Given the description of an element on the screen output the (x, y) to click on. 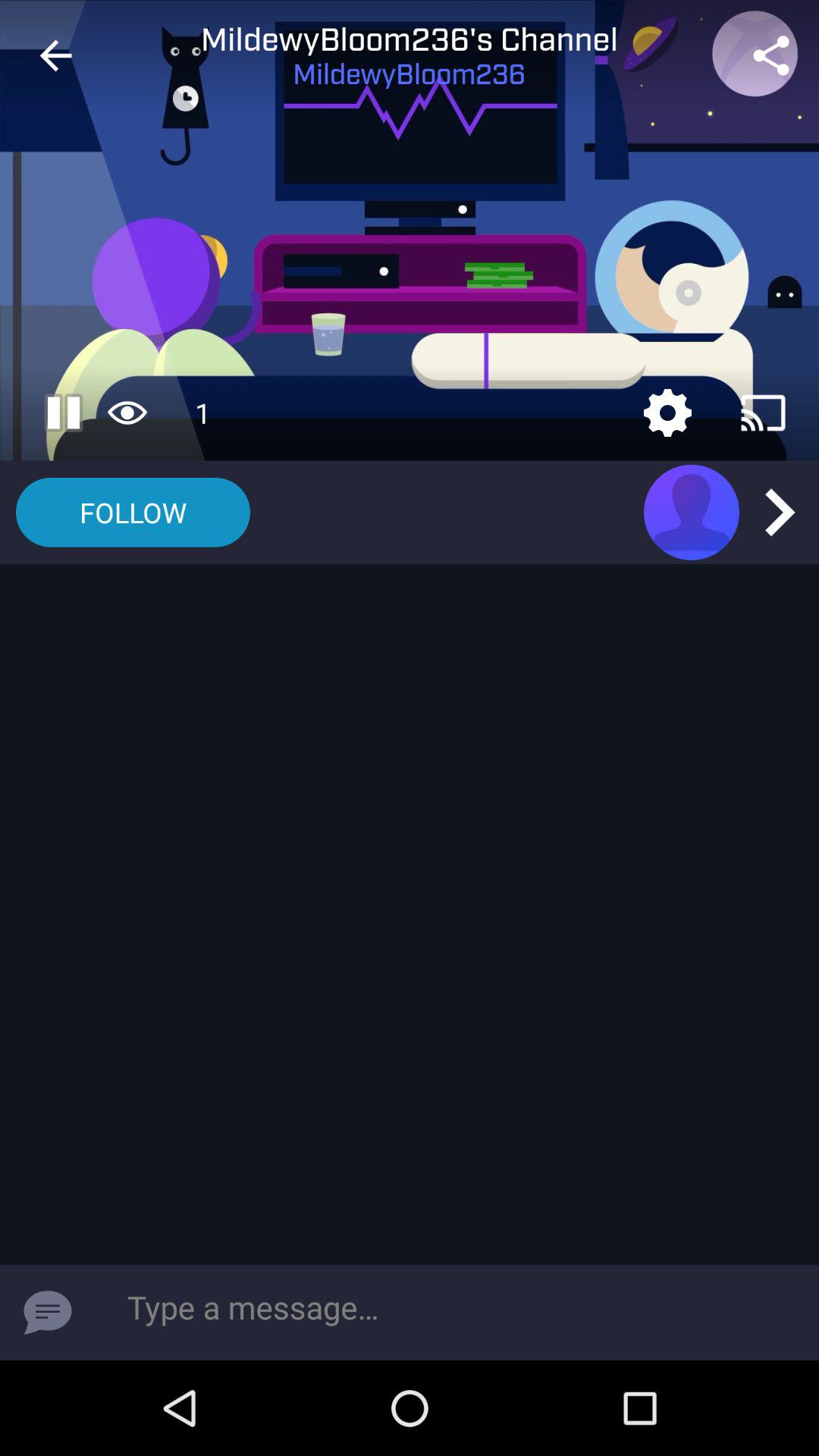
swipe until follow item (132, 512)
